Given the description of an element on the screen output the (x, y) to click on. 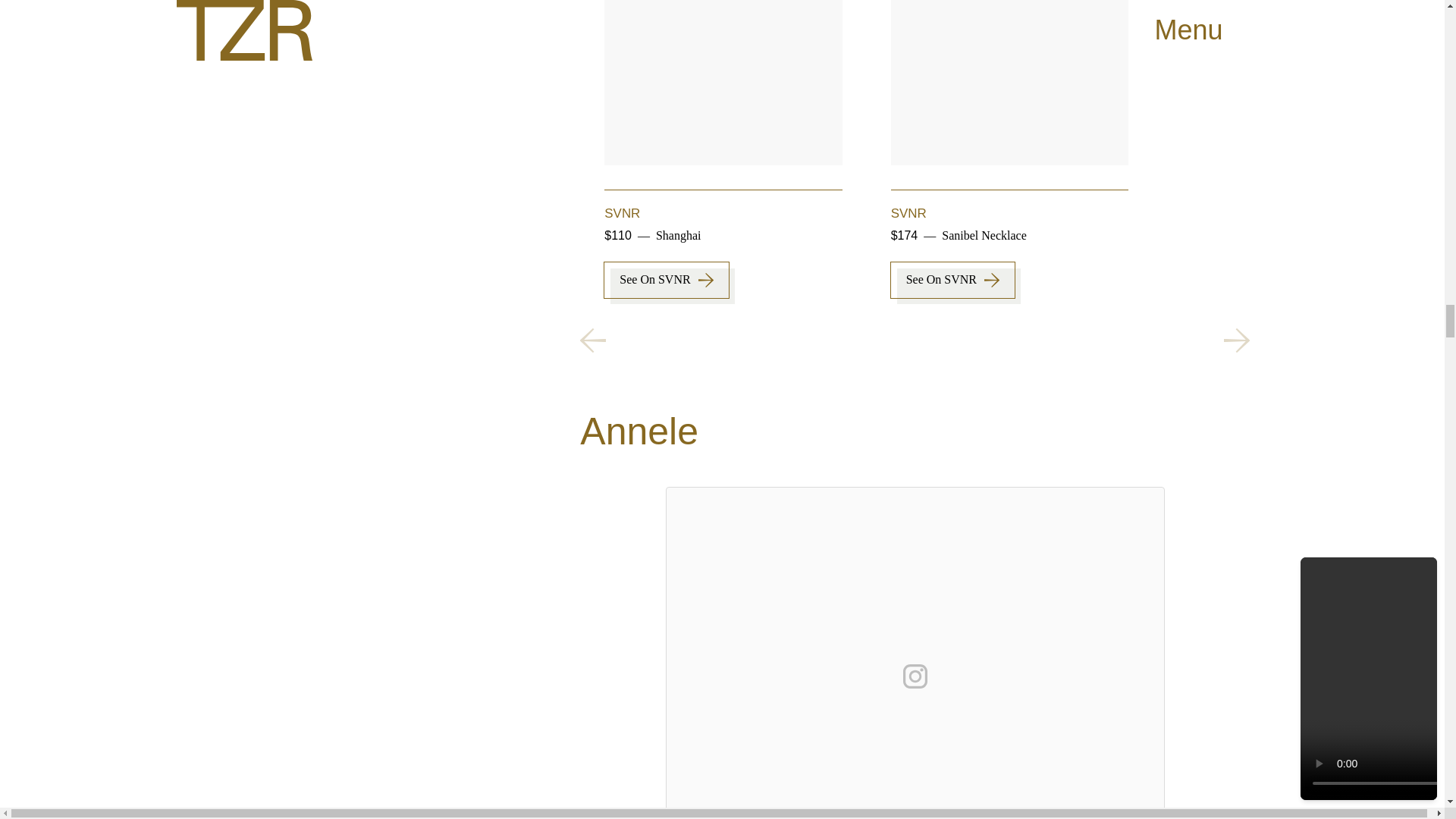
Next page (1236, 340)
See On SVNR (1238, 280)
View on Instagram (914, 676)
Previous page (592, 340)
See On SVNR (666, 280)
See On SVNR (952, 280)
